Given the description of an element on the screen output the (x, y) to click on. 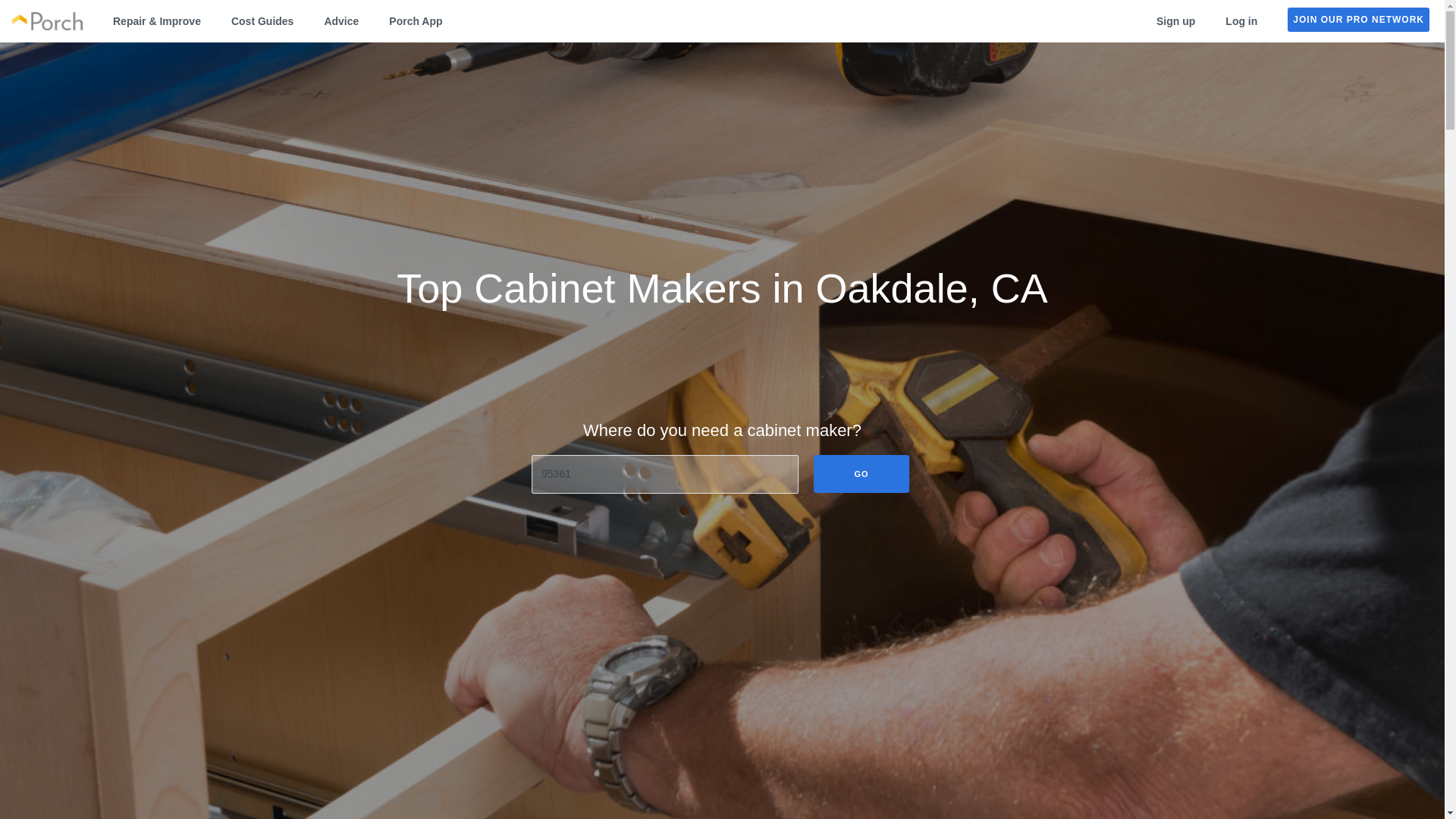
95361 (664, 474)
